Given the description of an element on the screen output the (x, y) to click on. 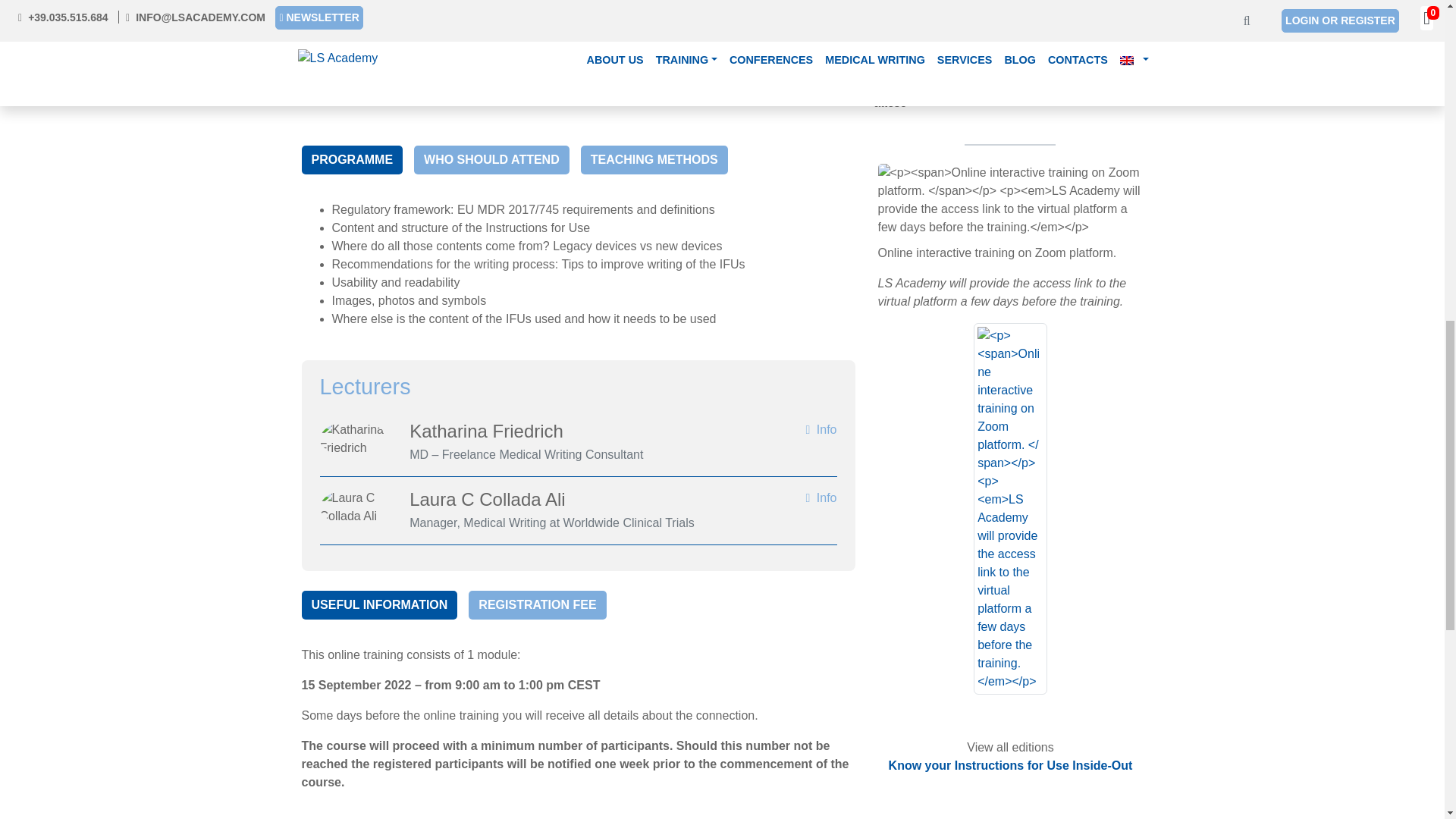
Know your Instructions for Use Inside-Out (1010, 765)
TEACHING METHODS (654, 159)
REGISTRATION FEE (536, 604)
Info (820, 497)
WHO SHOULD ATTEND (491, 159)
PROGRAMME (352, 159)
USEFUL INFORMATION (379, 604)
Info (820, 429)
